Given the description of an element on the screen output the (x, y) to click on. 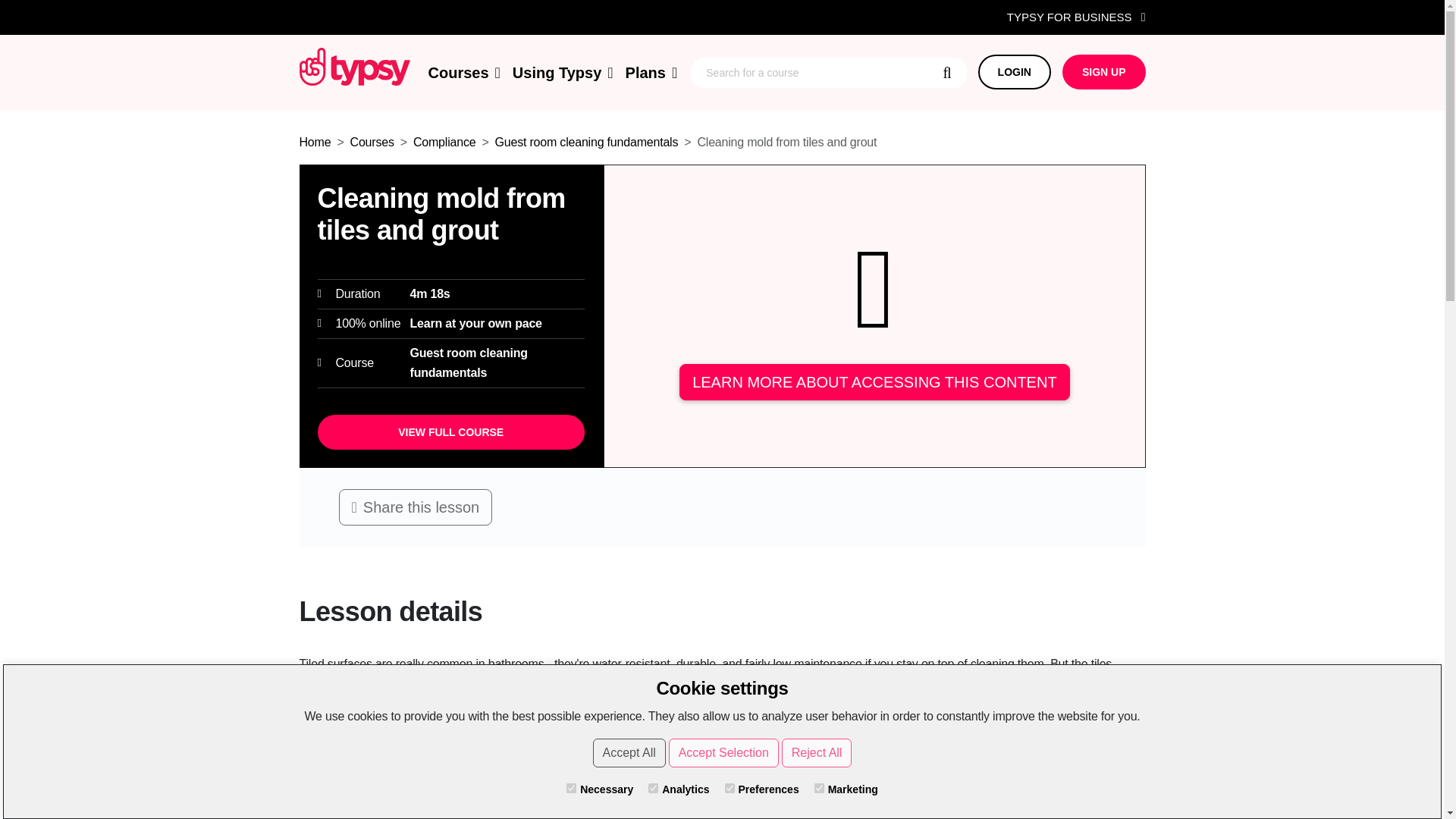
Marketing (818, 787)
Plans (652, 72)
Search for a course (828, 72)
TYPSY FOR BUSINESS (1076, 16)
Courses (463, 72)
LOGIN (1014, 71)
Courses (372, 141)
Necessary (571, 787)
Preferences (730, 787)
Analytics (652, 787)
